Given the description of an element on the screen output the (x, y) to click on. 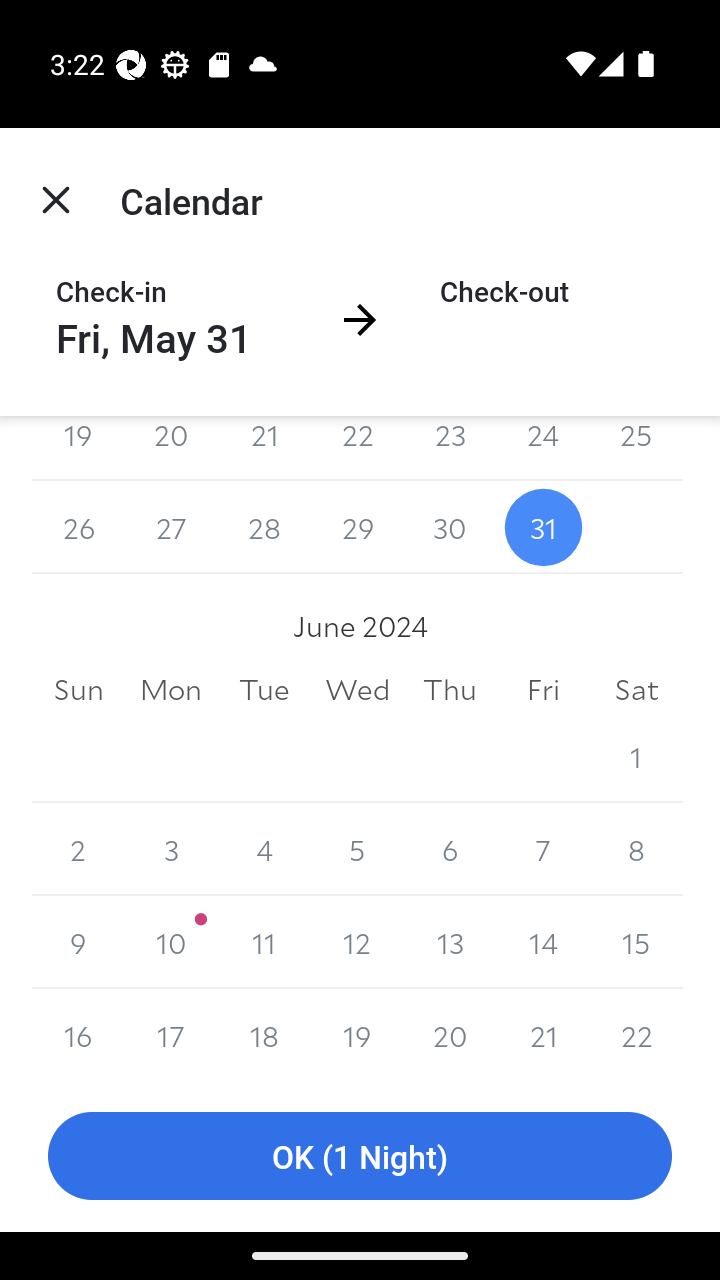
19 19 May 2024 (78, 448)
20 20 May 2024 (171, 448)
21 21 May 2024 (264, 448)
22 22 May 2024 (357, 448)
23 23 May 2024 (449, 448)
24 24 May 2024 (542, 448)
25 25 May 2024 (636, 448)
26 26 May 2024 (78, 527)
27 27 May 2024 (171, 527)
28 28 May 2024 (264, 527)
29 29 May 2024 (357, 527)
30 30 May 2024 (449, 527)
31 31 May 2024 (542, 527)
Sun (78, 689)
Mon (171, 689)
Tue (264, 689)
Wed (357, 689)
Thu (449, 689)
Fri (542, 689)
Sat (636, 689)
1 1 June 2024 (636, 756)
2 2 June 2024 (78, 849)
3 3 June 2024 (171, 849)
4 4 June 2024 (264, 849)
5 5 June 2024 (357, 849)
6 6 June 2024 (449, 849)
7 7 June 2024 (542, 849)
8 8 June 2024 (636, 849)
9 9 June 2024 (78, 942)
10 10 June 2024 (171, 942)
11 11 June 2024 (264, 942)
12 12 June 2024 (357, 942)
13 13 June 2024 (449, 942)
14 14 June 2024 (542, 942)
15 15 June 2024 (636, 942)
16 16 June 2024 (78, 1034)
17 17 June 2024 (171, 1034)
18 18 June 2024 (264, 1034)
19 19 June 2024 (357, 1034)
20 20 June 2024 (449, 1034)
21 21 June 2024 (542, 1034)
22 22 June 2024 (636, 1034)
OK (1 Night) (359, 1156)
